Given the description of an element on the screen output the (x, y) to click on. 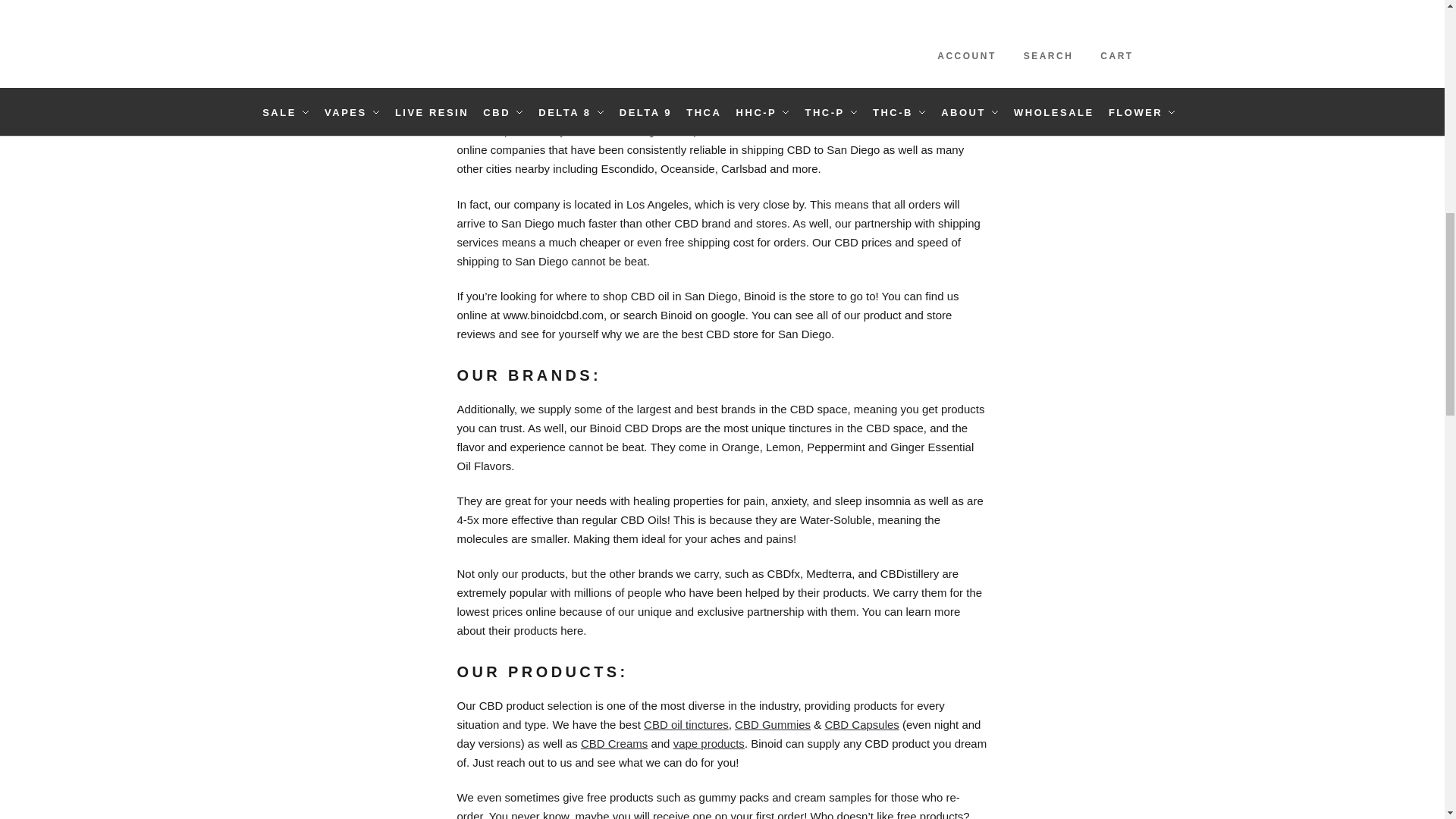
Best Place To Buy CBD Oil in San Diego Escondido Carlsbad (799, 130)
